Given the description of an element on the screen output the (x, y) to click on. 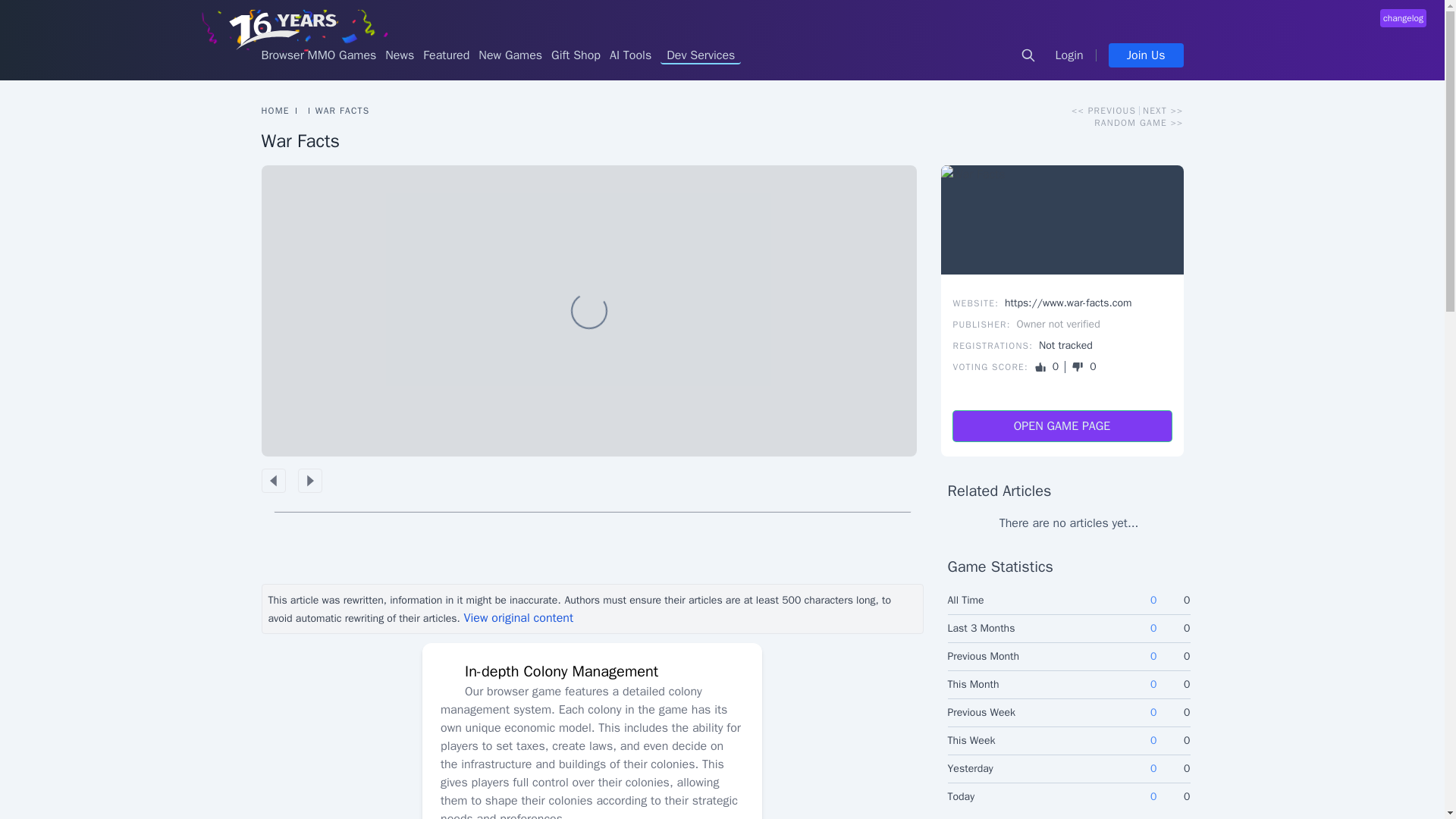
changelog (1403, 18)
Gift Shop (575, 54)
News (399, 54)
AI Tools (630, 54)
Browser MMO Games (317, 54)
Featured (445, 54)
Login (1069, 54)
Dev Services (701, 54)
Join Us (1145, 55)
War Facts (1061, 219)
